Given the description of an element on the screen output the (x, y) to click on. 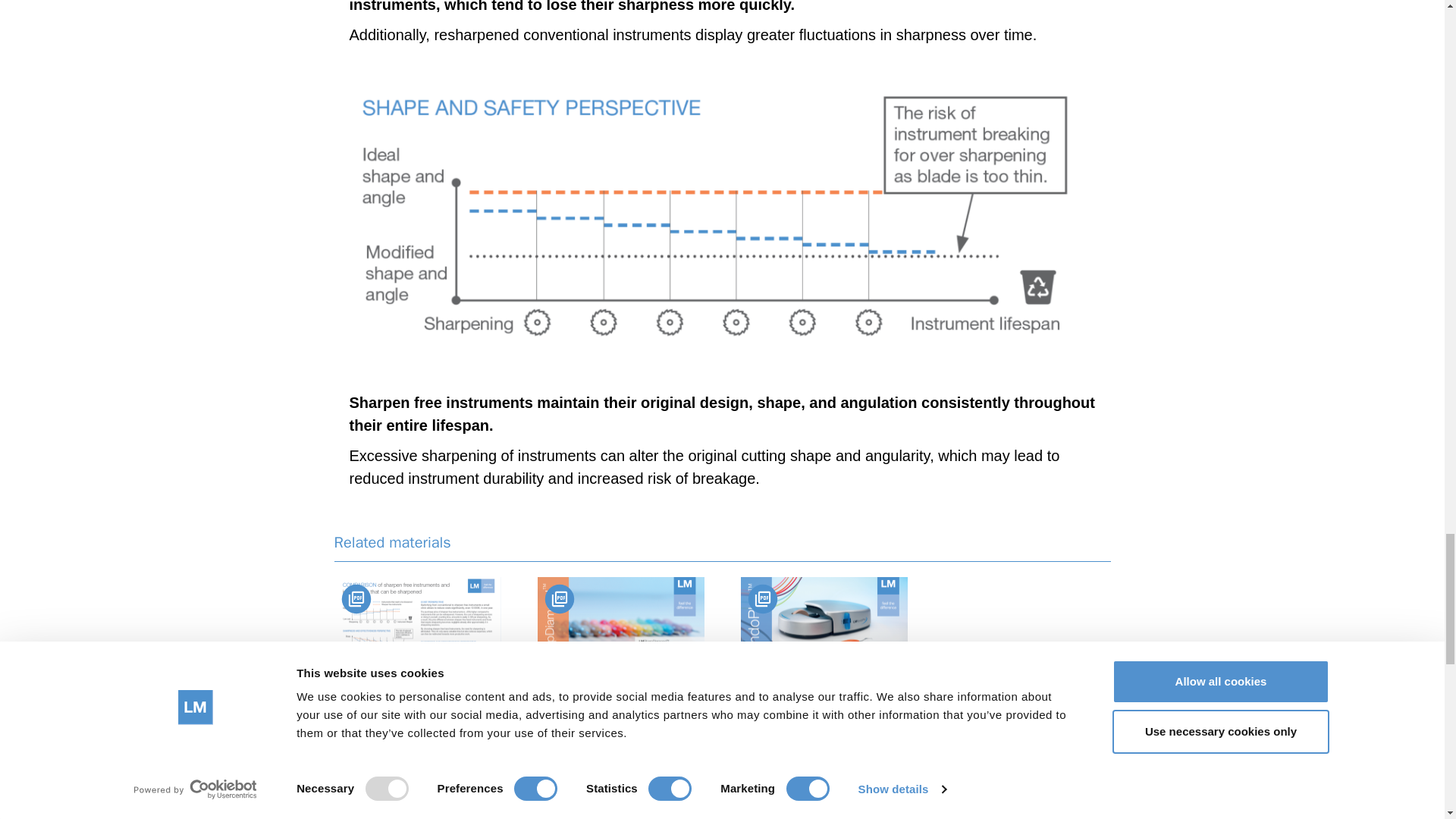
Comparison: Sharpen free vs sharpening (411, 724)
Comparison: Sharpen free vs sharpening (416, 650)
